Given the description of an element on the screen output the (x, y) to click on. 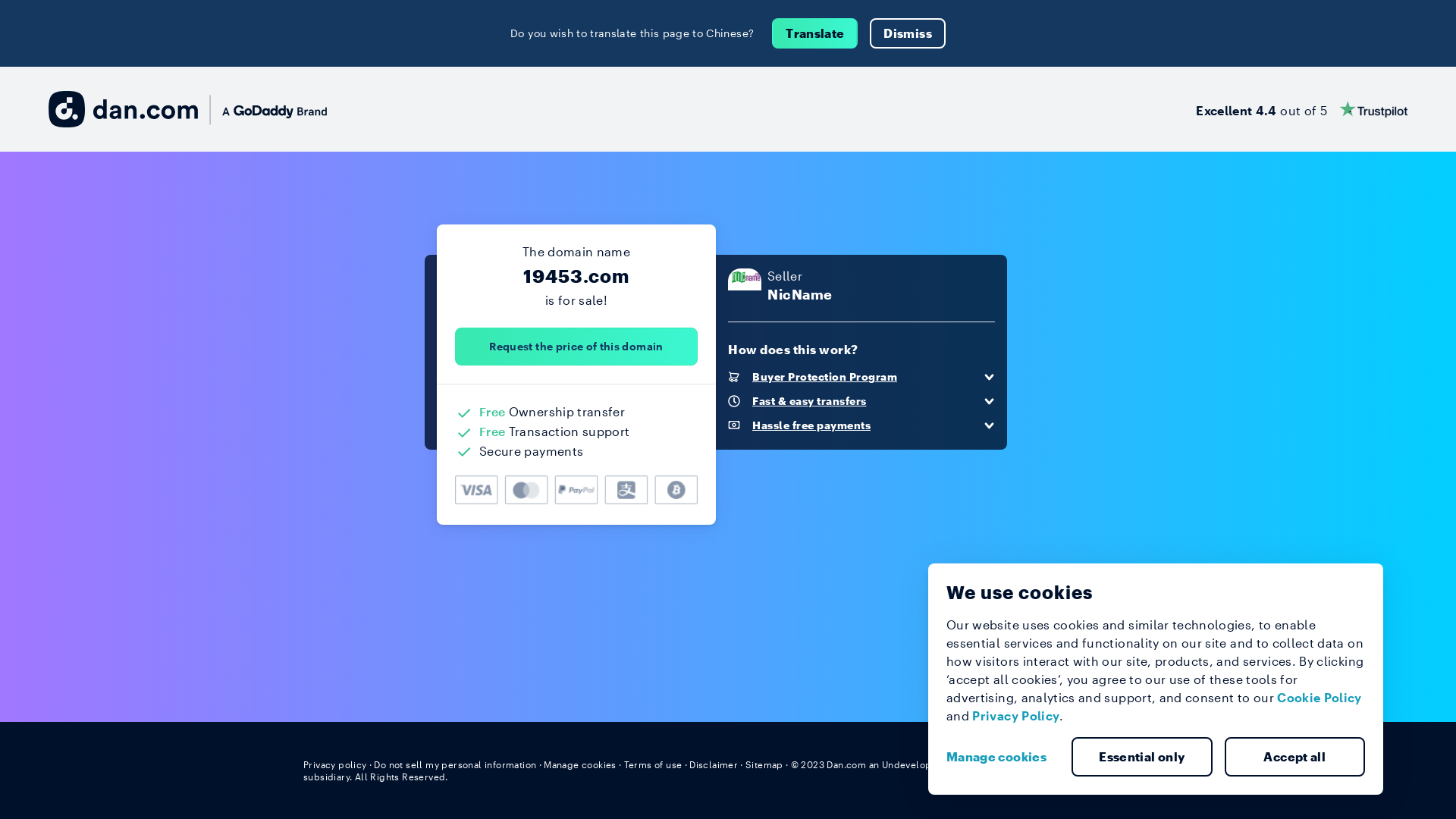
Manage cookies Element type: text (579, 764)
Terms of use Element type: text (653, 764)
Manage cookies Element type: text (1002, 756)
Privacy Policy Element type: text (1015, 715)
Cookie Policy Element type: text (1319, 697)
Dismiss Element type: text (906, 33)
Sitemap Element type: text (764, 764)
Do not sell my personal information Element type: text (454, 764)
Translate Element type: text (814, 33)
Request the price of this domain Element type: text (576, 346)
Disclaimer Element type: text (713, 764)
Accept all Element type: text (1294, 756)
Excellent 4.4 out of 5 Element type: text (1301, 109)
Essential only Element type: text (1141, 756)
English Element type: text (1124, 764)
Privacy policy Element type: text (335, 764)
